Given the description of an element on the screen output the (x, y) to click on. 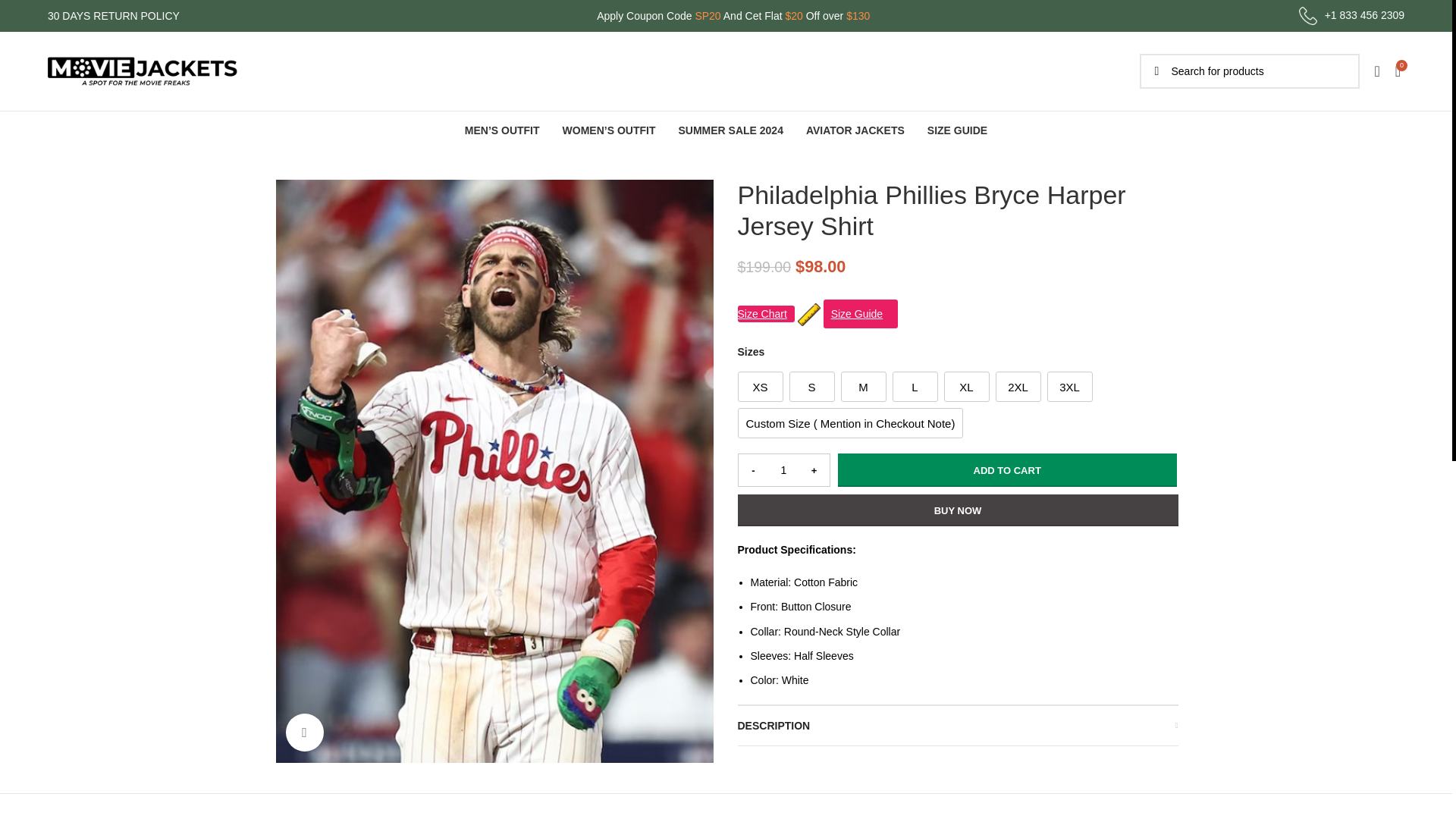
Size Guide (861, 313)
1 (783, 470)
Return and Exchange Policy (342, 732)
Terms and Conditions (326, 672)
- (753, 470)
ADD TO CART (1006, 469)
SUMMER SALE 2024 (730, 130)
AVIATOR JACKETS (855, 130)
SIZE GUIDE (957, 130)
How to Checkout (545, 672)
Size Chart (764, 313)
Shipping and Delivery (326, 702)
Privacy Policy (307, 643)
Log in (1254, 312)
BUY NOW (956, 510)
